Given the description of an element on the screen output the (x, y) to click on. 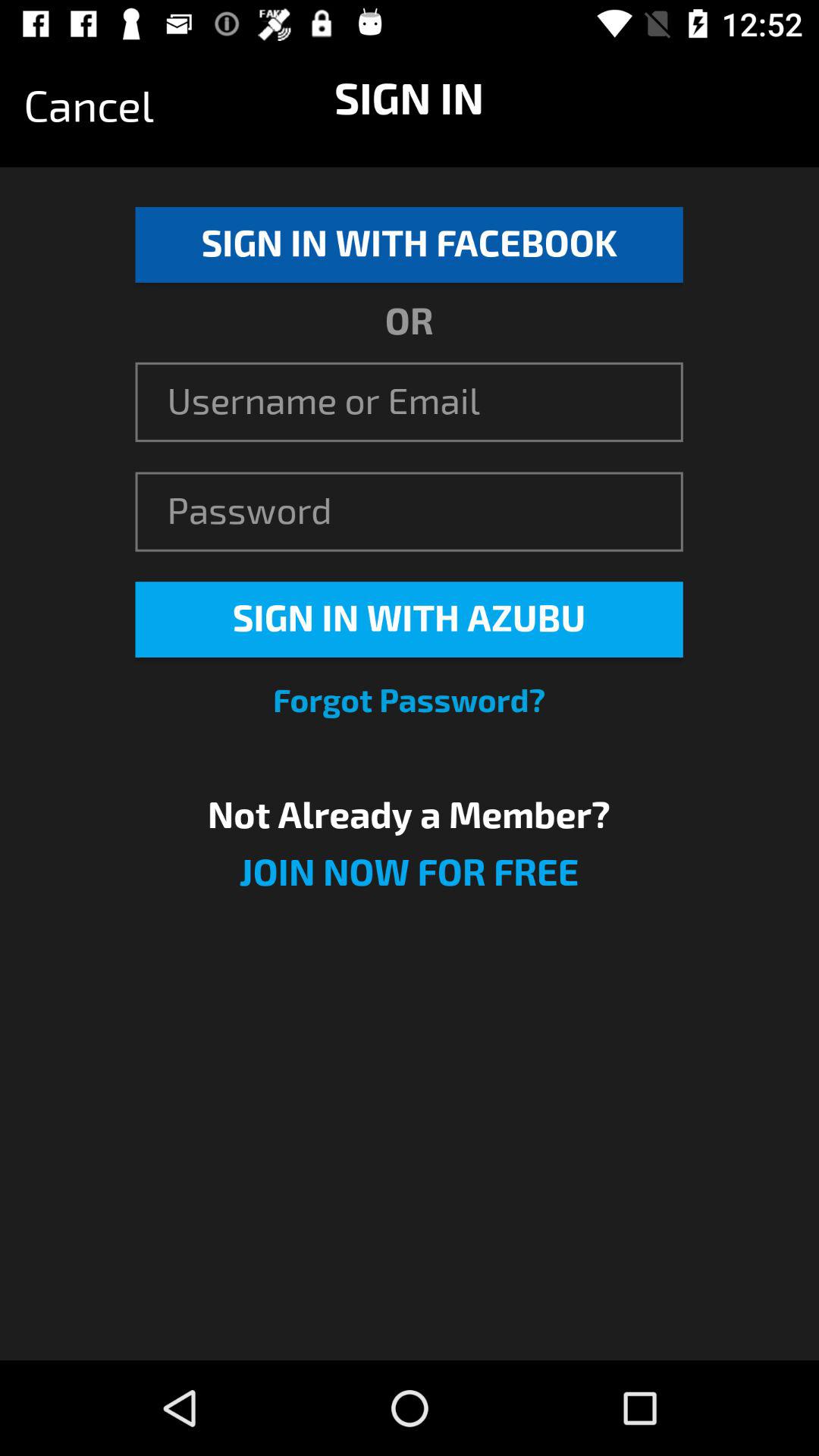
open the item above the sign in with icon (89, 107)
